Given the description of an element on the screen output the (x, y) to click on. 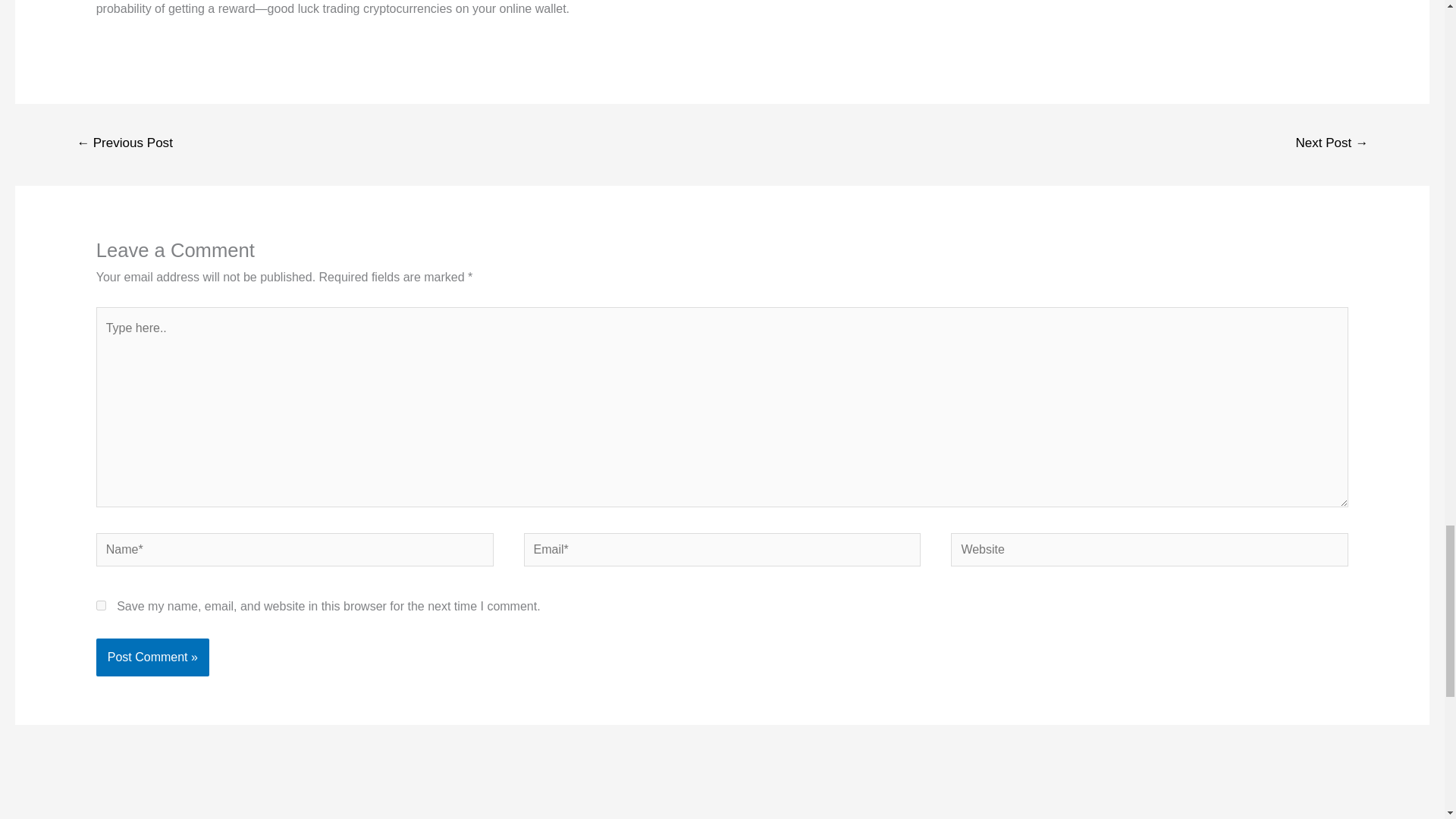
yes (101, 605)
